Given the description of an element on the screen output the (x, y) to click on. 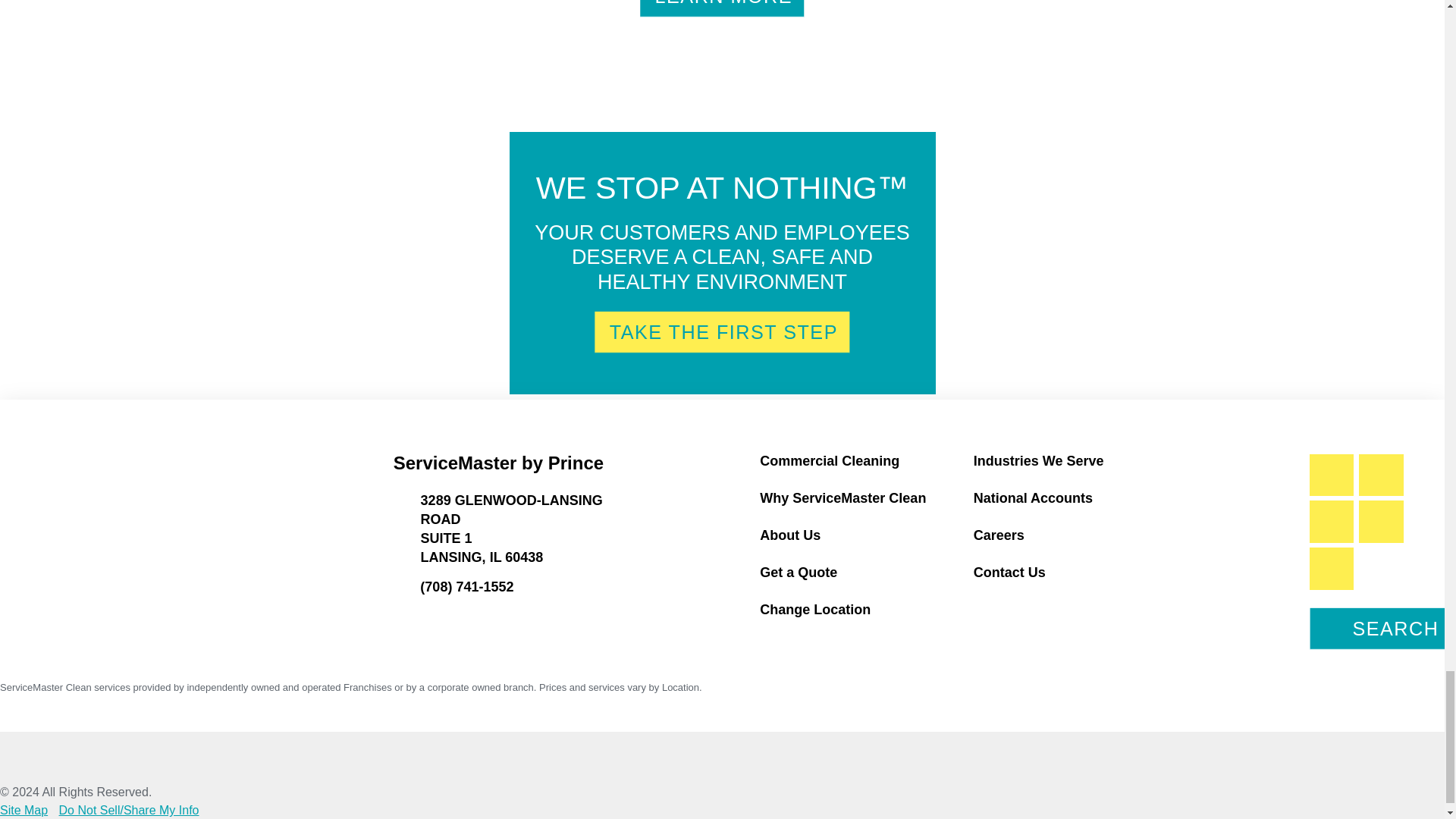
Google My Business (1331, 521)
Facebook (1331, 475)
Yelp (1380, 521)
Twitter (1331, 568)
LinkedIn (1380, 475)
